Given the description of an element on the screen output the (x, y) to click on. 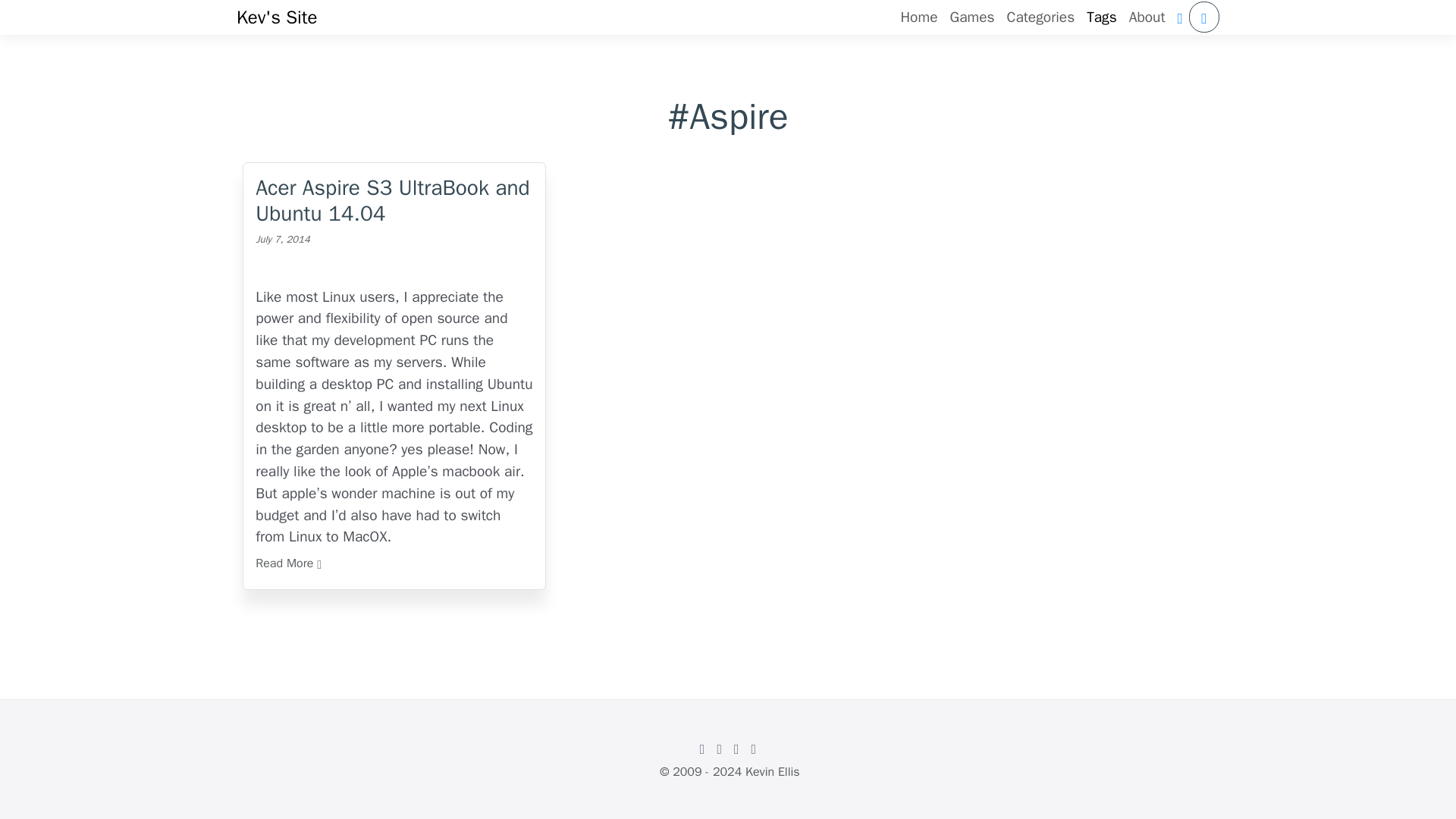
Categories (1041, 17)
Tags (1101, 17)
Games (971, 17)
Games (971, 17)
Youtube (753, 747)
About (1147, 17)
Kev's Site (276, 17)
About (1147, 17)
Home (918, 17)
Tags (1101, 17)
Home (918, 17)
Twitter (719, 747)
Categories (1041, 17)
GitHub (702, 747)
LinkedIn (736, 747)
